Given the description of an element on the screen output the (x, y) to click on. 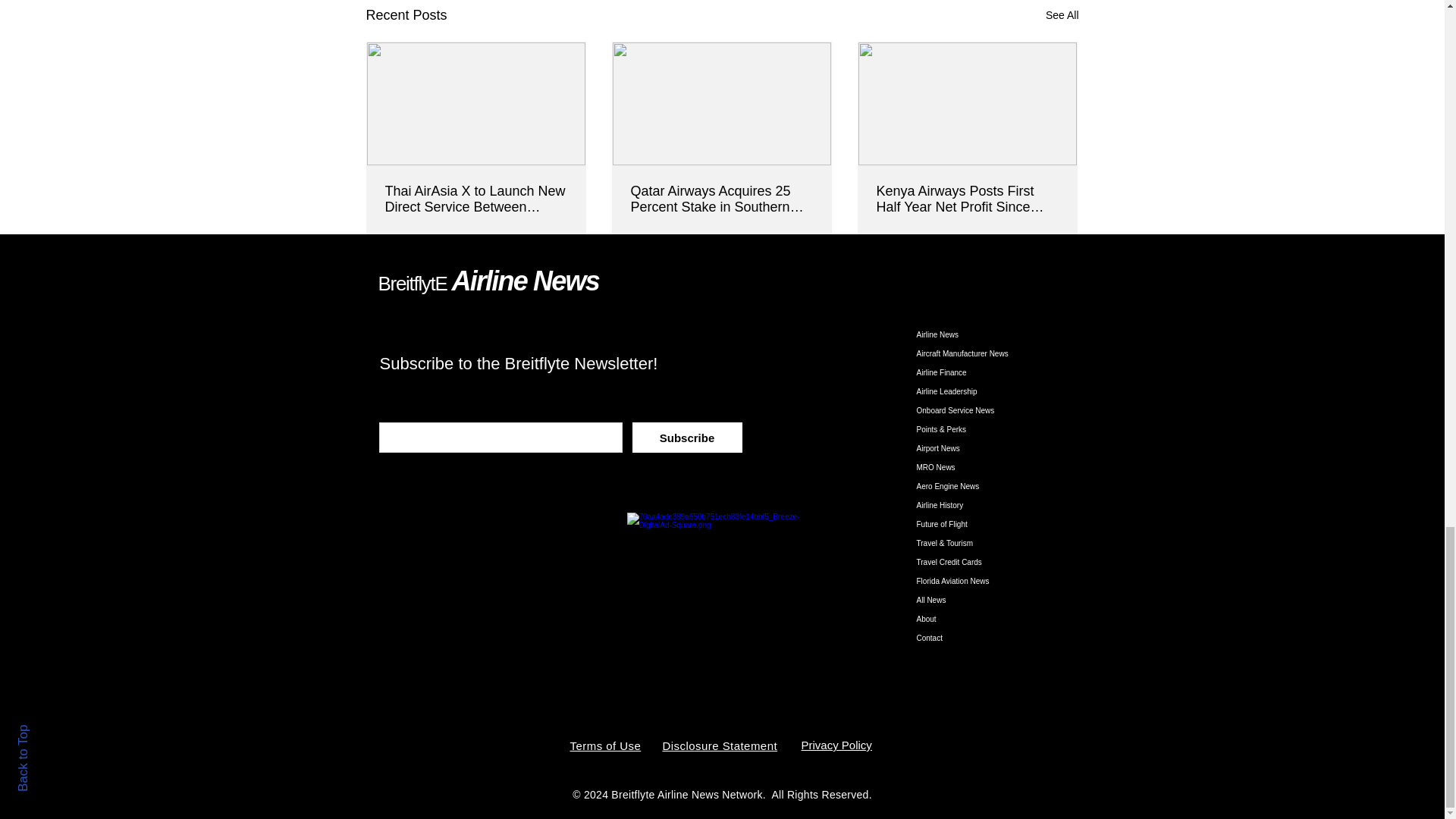
See All (1061, 15)
Kenya Airways Posts First Half Year Net Profit Since 2013 (967, 199)
Subscribe (686, 437)
Breit (395, 282)
